Given the description of an element on the screen output the (x, y) to click on. 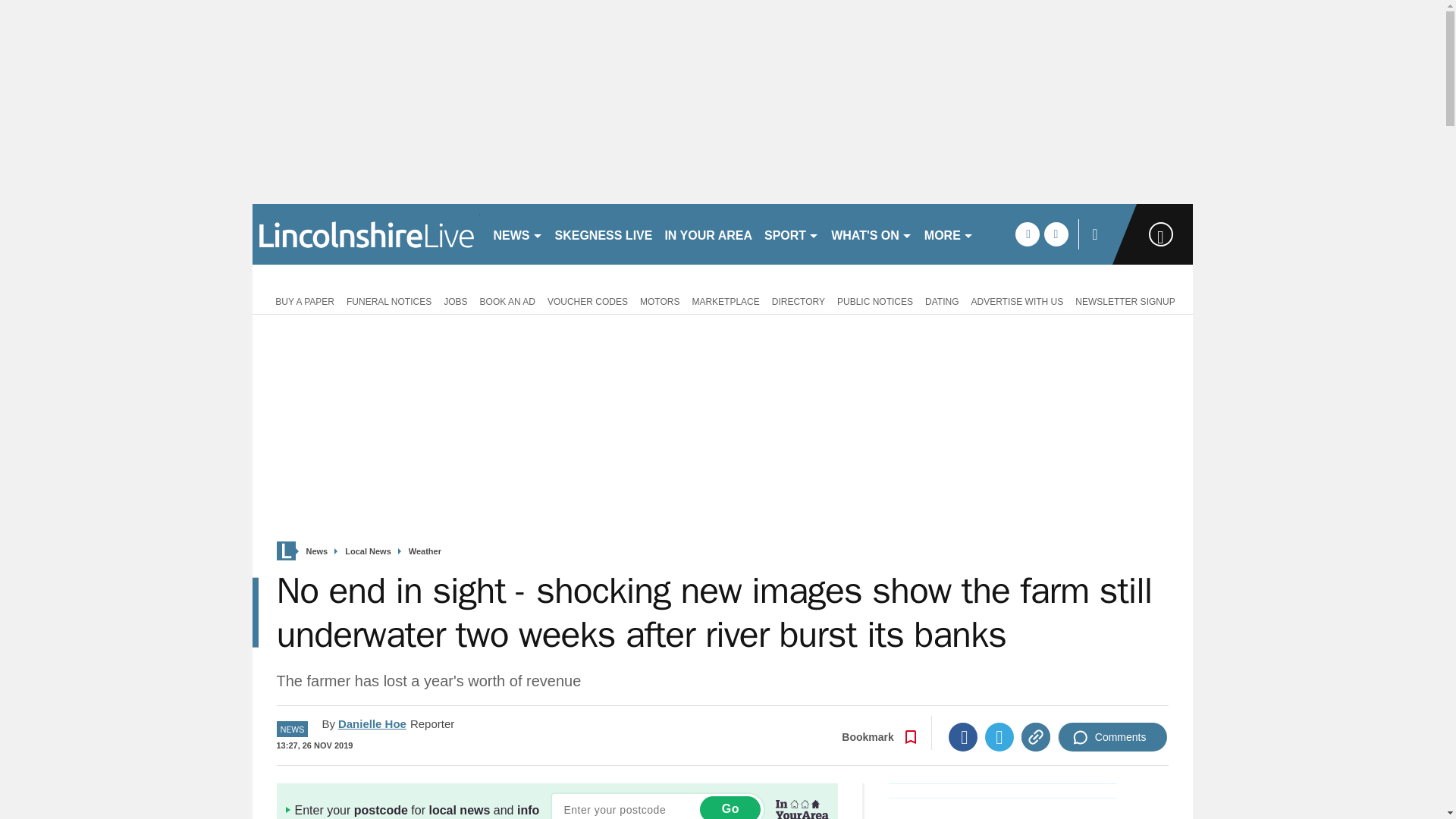
lincolnshirelive (365, 233)
BUY A PAPER (301, 300)
SKEGNESS LIVE (603, 233)
IN YOUR AREA (708, 233)
Facebook (962, 736)
SPORT (791, 233)
Twitter (999, 736)
facebook (1026, 233)
NEWS (517, 233)
WHAT'S ON (871, 233)
Comments (1112, 736)
MORE (948, 233)
twitter (1055, 233)
Go (730, 807)
